Given the description of an element on the screen output the (x, y) to click on. 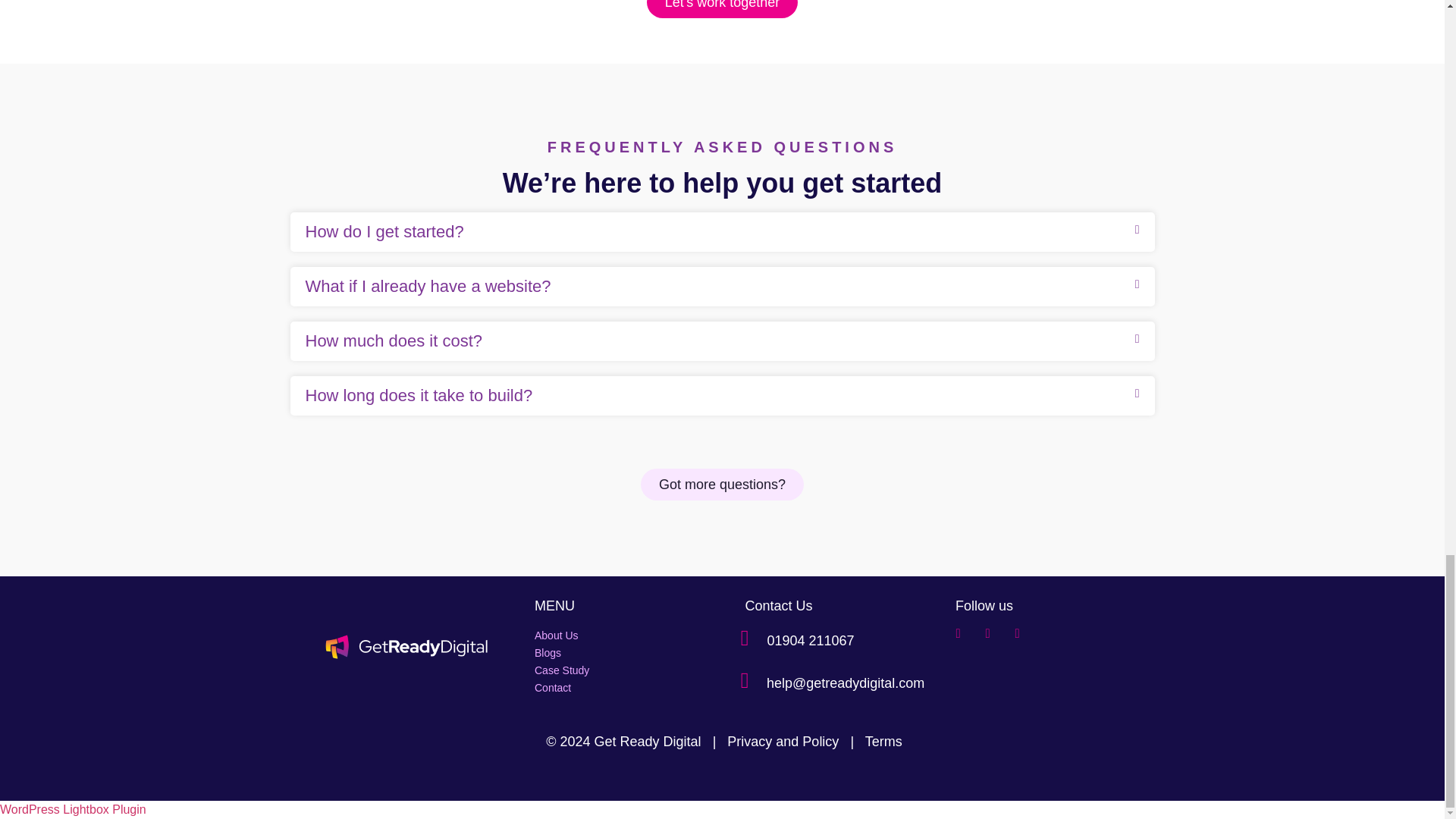
Let's work together (721, 9)
Got more questions? (721, 484)
How long does it take to build? (418, 394)
How do I get started? (383, 230)
Case Study (616, 670)
Blogs (616, 652)
What if I already have a website? (427, 285)
About Us (616, 635)
WordPress Lightbox Plugin (73, 809)
How much does it cost? (392, 340)
